Given the description of an element on the screen output the (x, y) to click on. 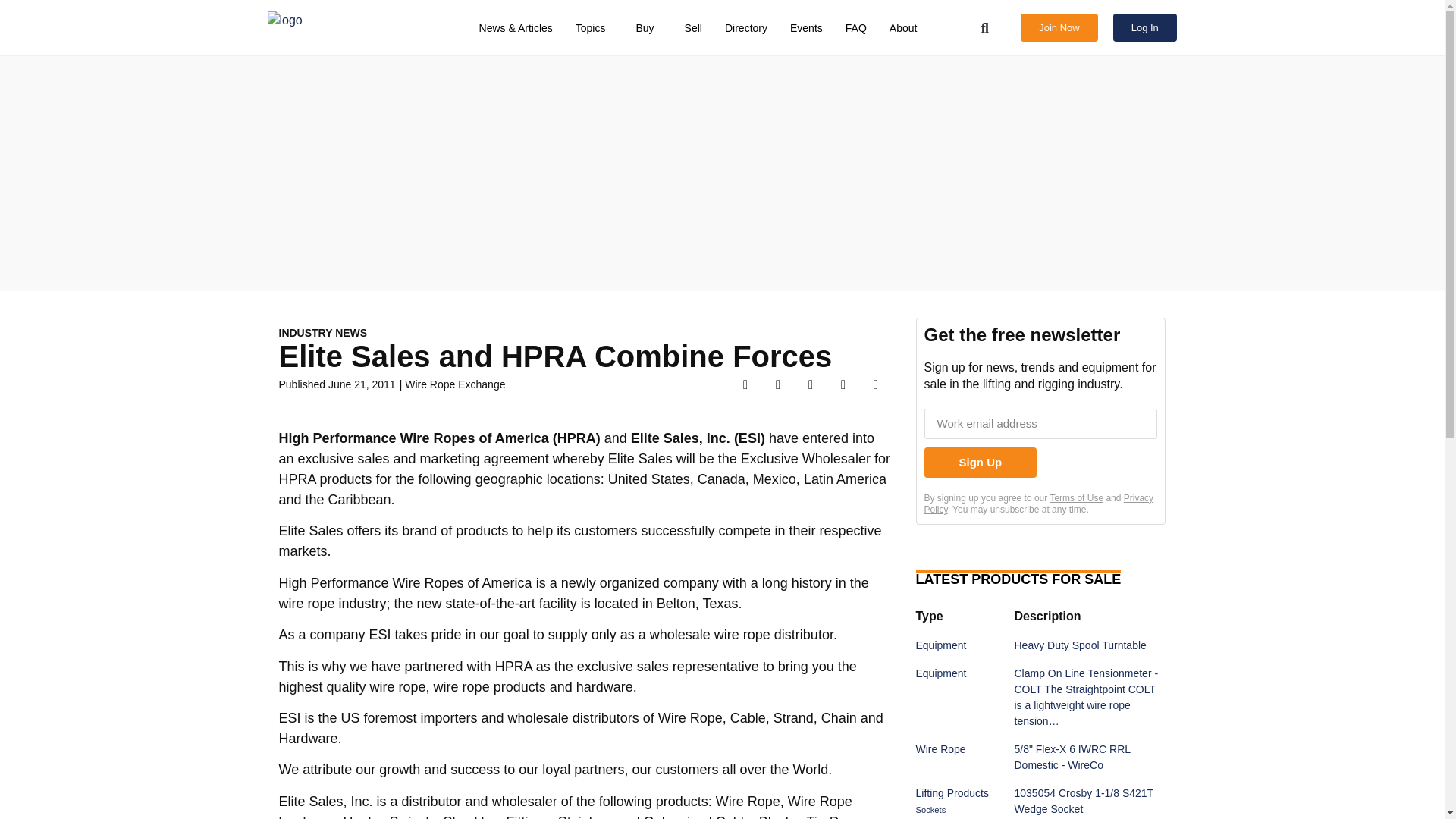
Topics (594, 27)
Buy (648, 27)
logo (342, 27)
